Given the description of an element on the screen output the (x, y) to click on. 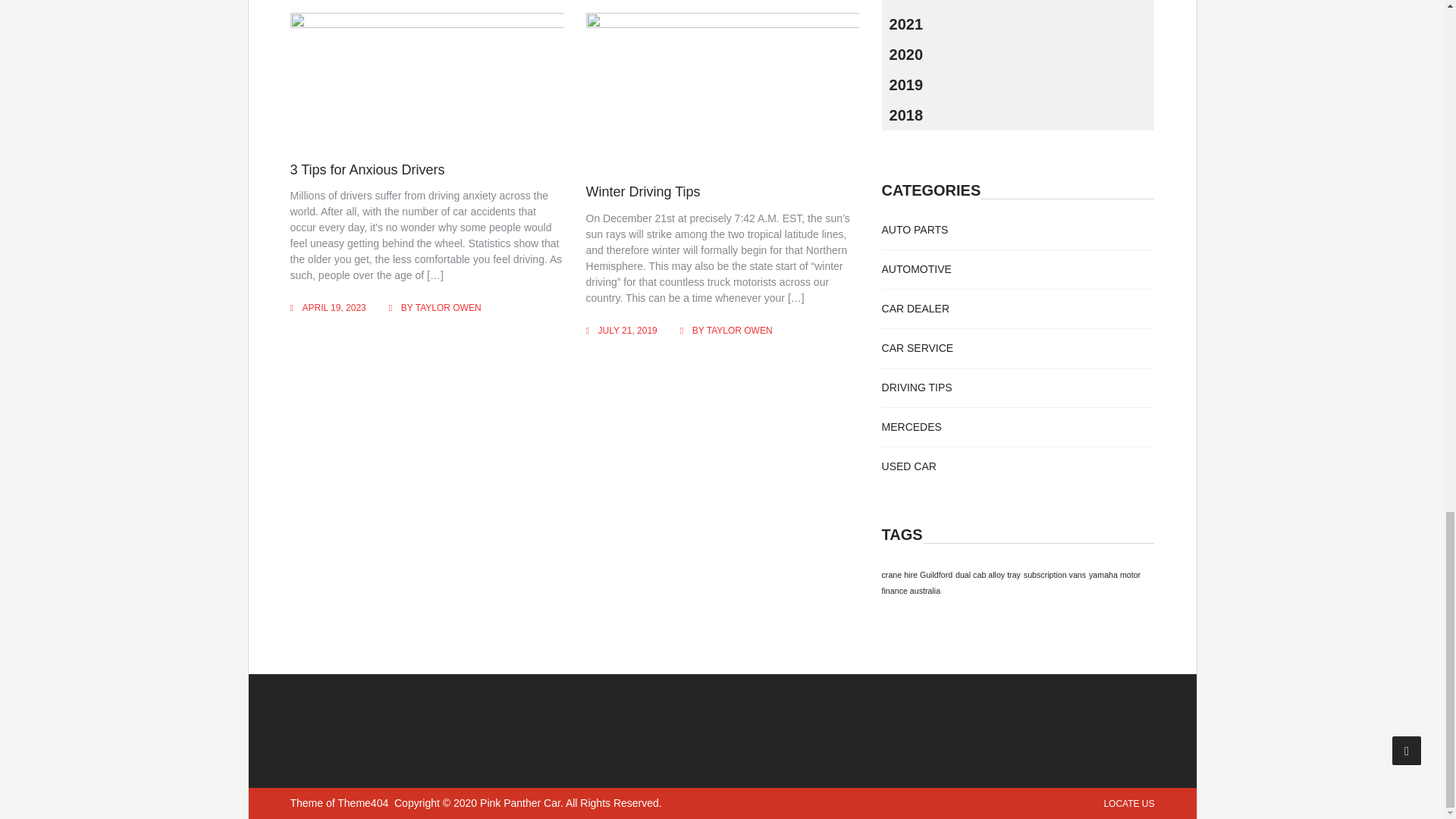
Winter Driving Tips (643, 191)
JULY 21, 2019 (628, 330)
APRIL 19, 2023 (333, 307)
TAYLOR OWEN (739, 330)
TAYLOR OWEN (447, 307)
3 Tips for Anxious Drivers (366, 169)
